Given the description of an element on the screen output the (x, y) to click on. 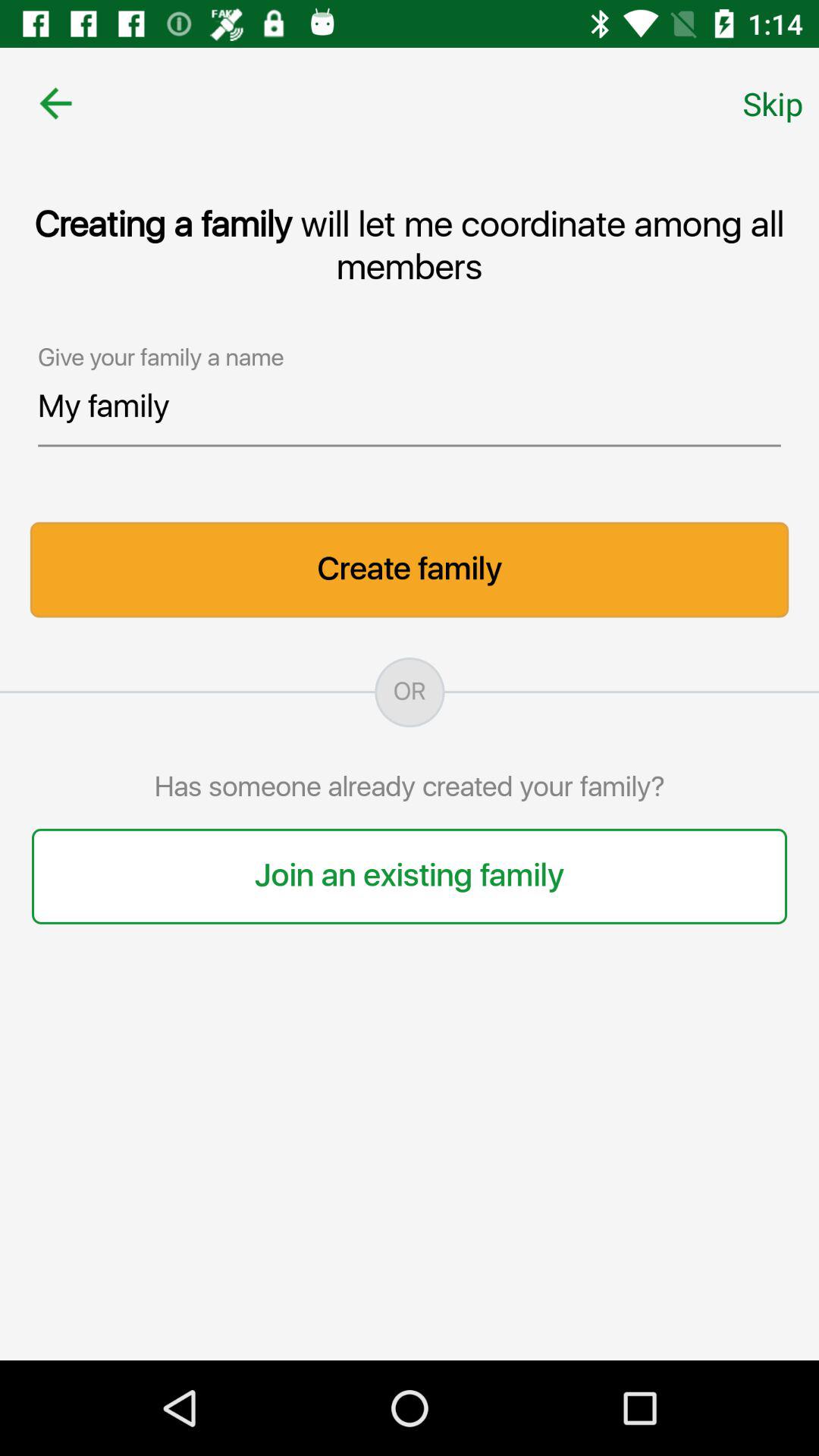
go back (55, 103)
